Given the description of an element on the screen output the (x, y) to click on. 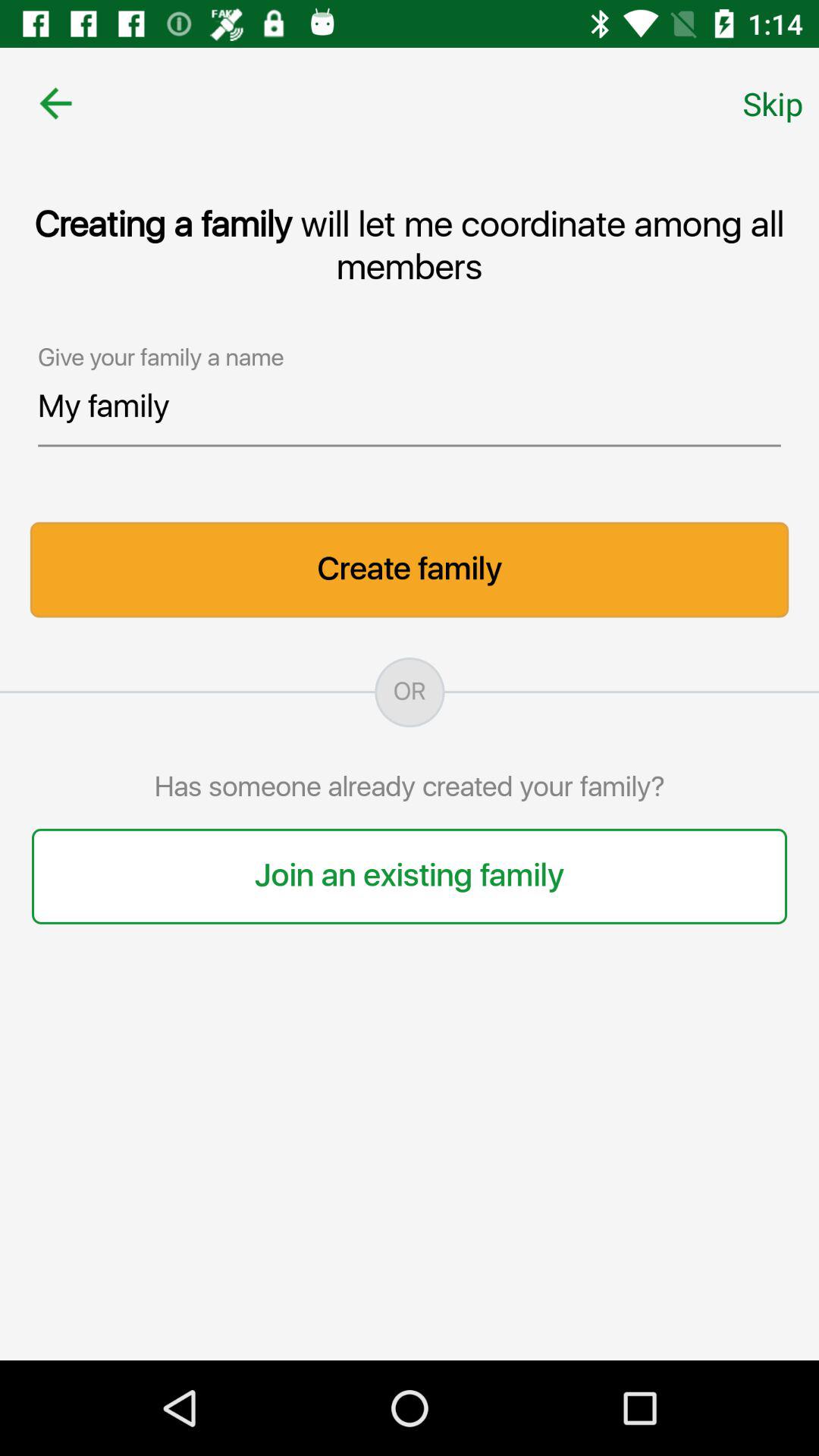
go back (55, 103)
